Given the description of an element on the screen output the (x, y) to click on. 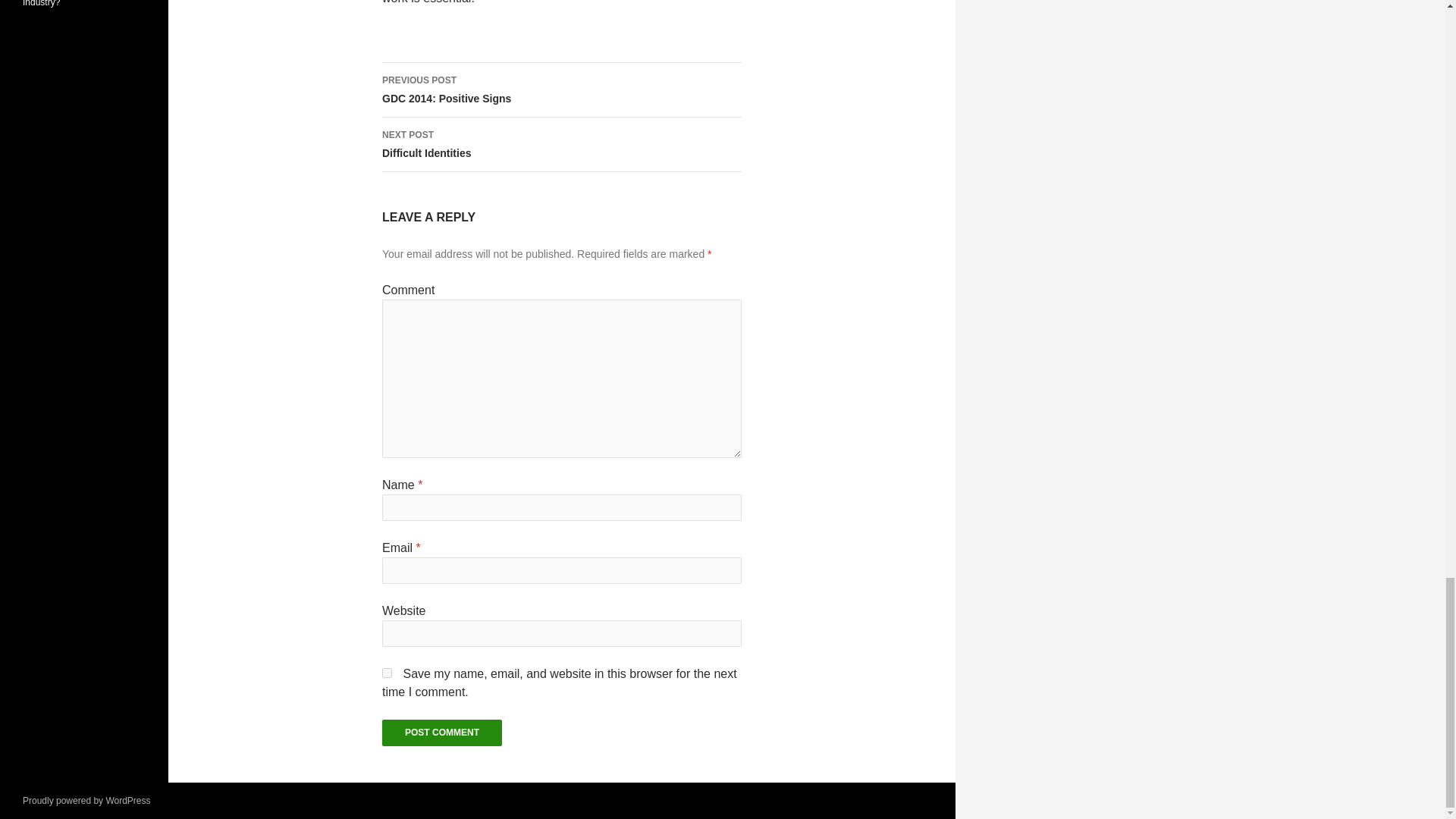
yes (561, 144)
Post Comment (561, 90)
Post Comment (386, 673)
